Given the description of an element on the screen output the (x, y) to click on. 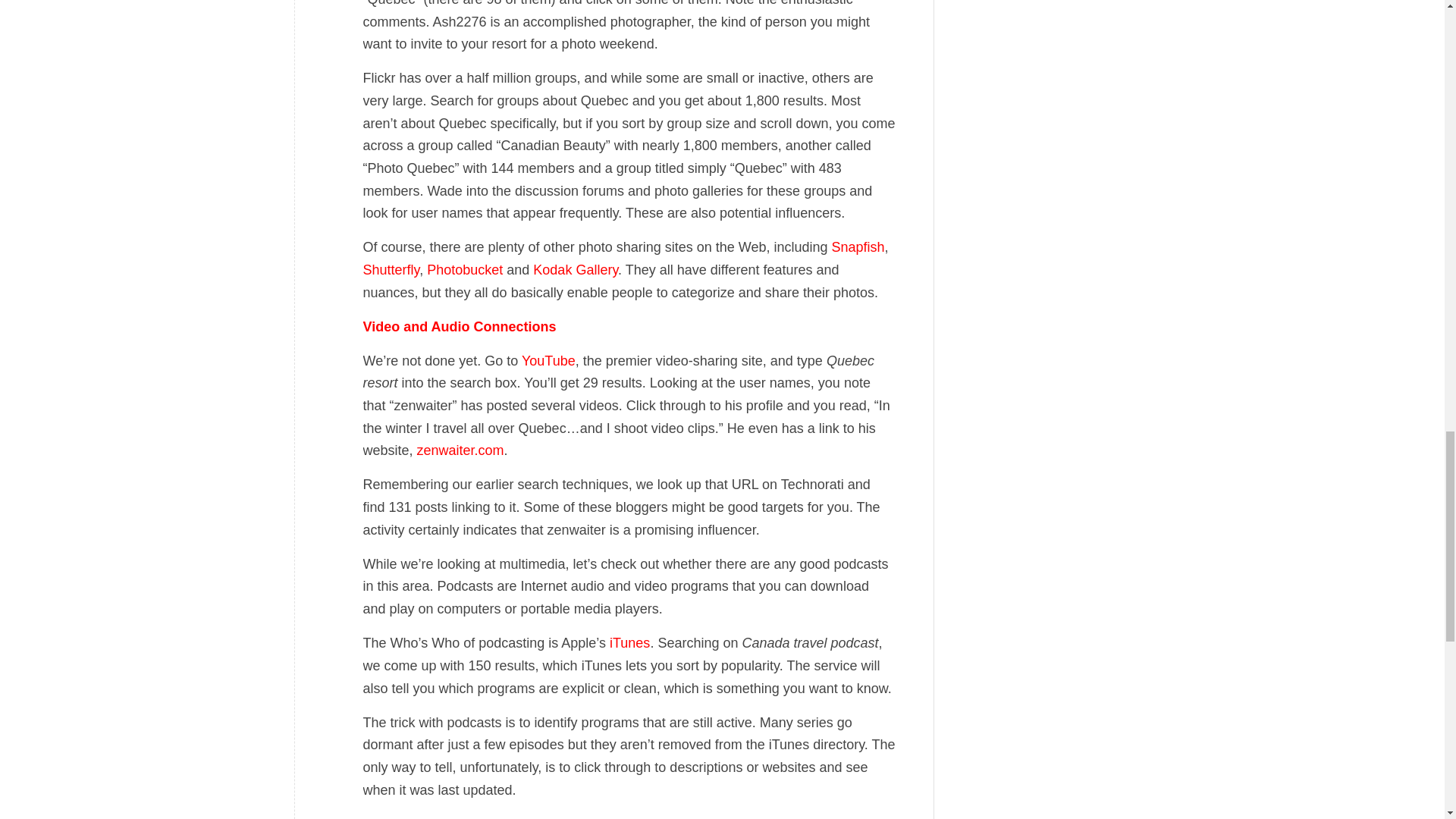
Podcast Alley (403, 817)
YouTube (548, 360)
iTunes (629, 642)
Shutterfly (390, 269)
zenwaiter.com (459, 450)
Snapfish (858, 246)
Kodak Gallery (574, 269)
Photobucket (464, 269)
